Given the description of an element on the screen output the (x, y) to click on. 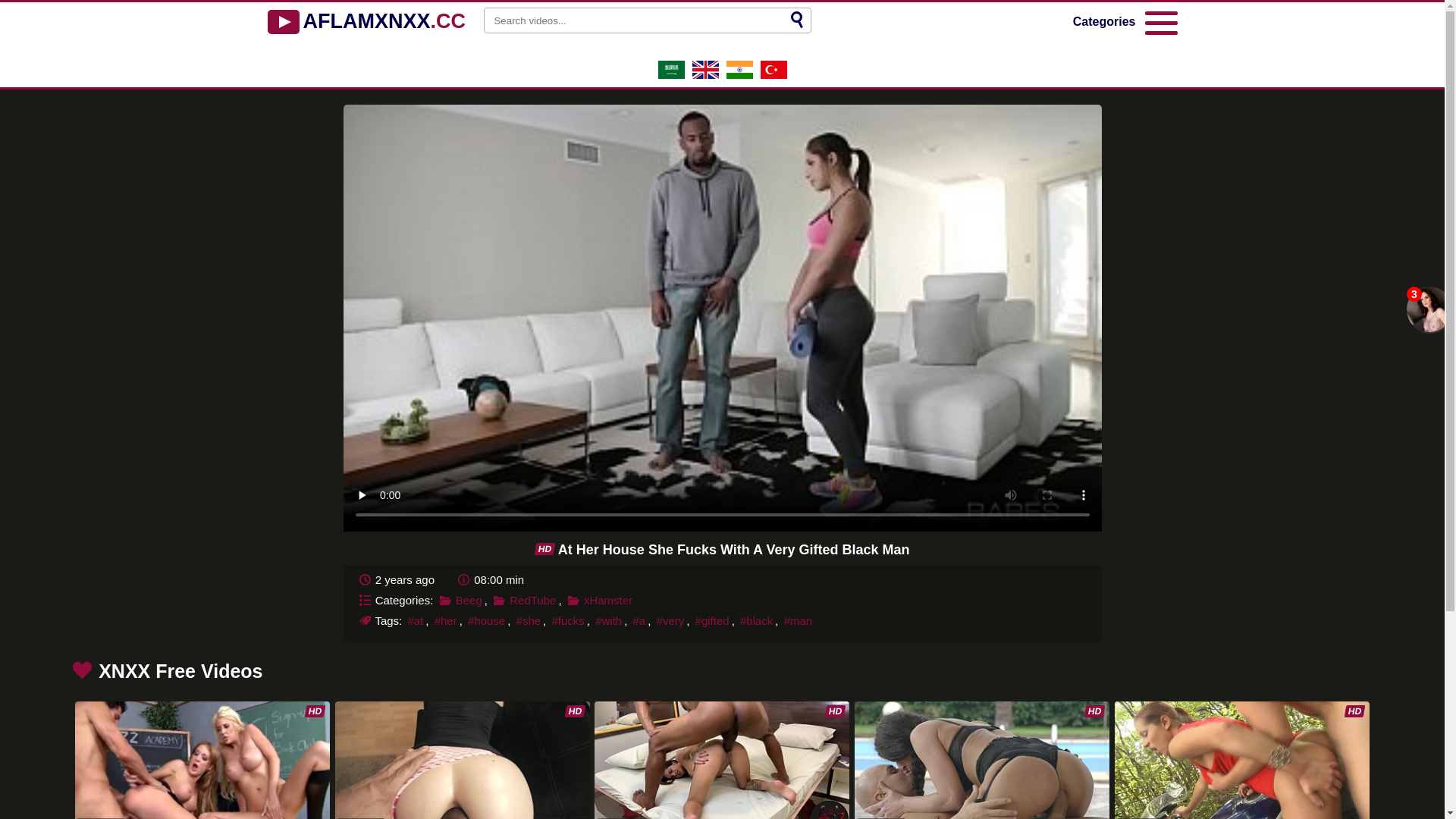
#man Element type: text (798, 620)
#she Element type: text (528, 620)
xHamster Element type: text (599, 599)
#very Element type: text (670, 620)
SA Element type: hover (671, 74)
#her Element type: text (445, 620)
Search Element type: text (796, 20)
#gifted Element type: text (712, 620)
#black Element type: text (756, 620)
TR Element type: hover (772, 74)
#house Element type: text (486, 620)
#a Element type: text (639, 620)
IN Element type: hover (739, 74)
#fucks Element type: text (567, 620)
#at Element type: text (415, 620)
EN Element type: hover (704, 74)
#with Element type: text (608, 620)
Beeg Element type: text (460, 599)
RedTube Element type: text (523, 599)
AFLAMXNXX.CC Element type: text (365, 21)
